Given the description of an element on the screen output the (x, y) to click on. 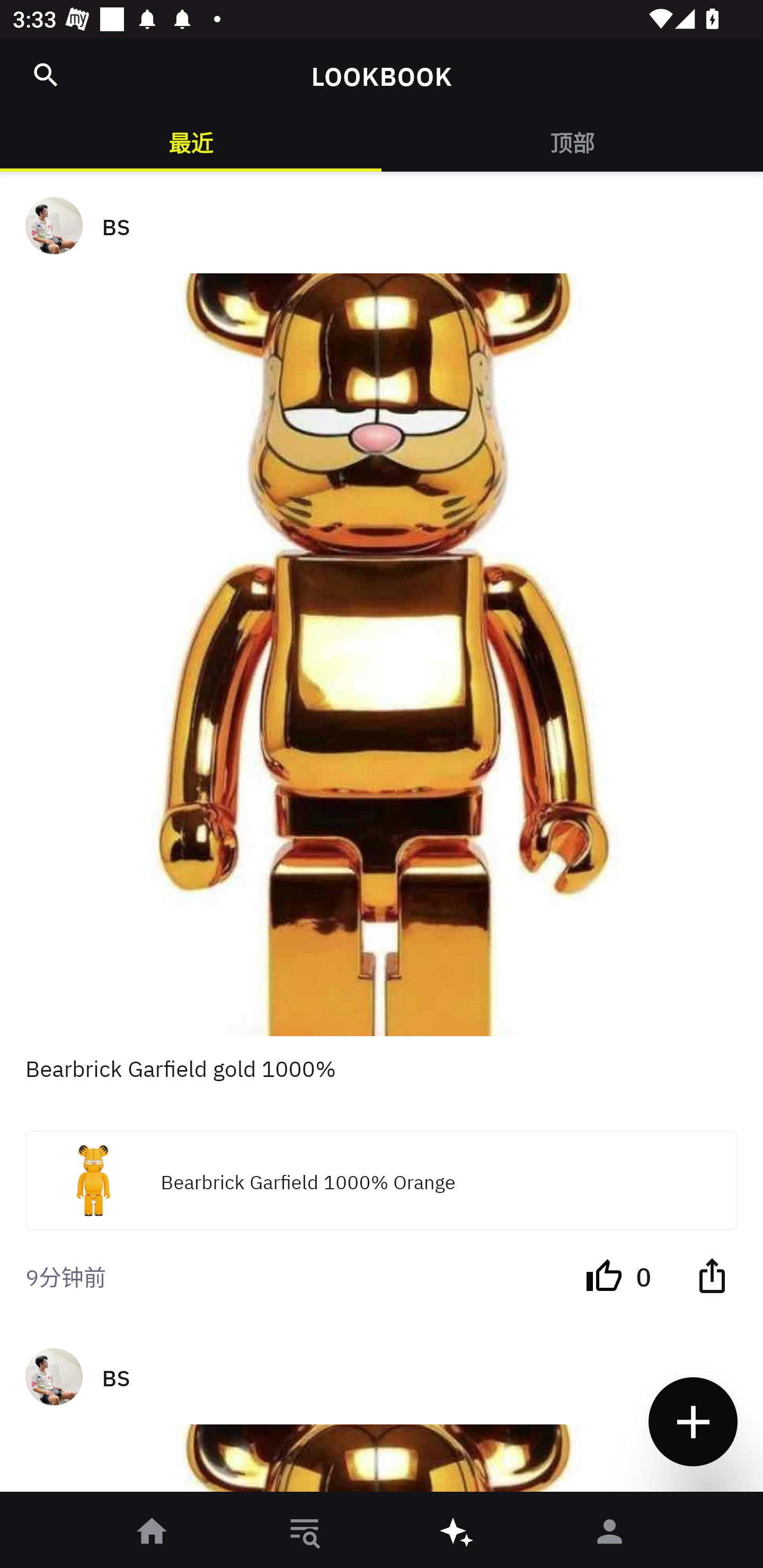
 (45, 74)
最近 (190, 140)
顶部 (572, 140)
Bearbrick Garfield gold 1000%
 (381, 1083)
Bearbrick Garfield 1000% Orange (381, 1180)
󰔔 (603, 1274)
 (711, 1274)
󰋜 (152, 1532)
󱎸 (305, 1532)
󰫢 (457, 1532)
󰀄 (610, 1532)
